Given the description of an element on the screen output the (x, y) to click on. 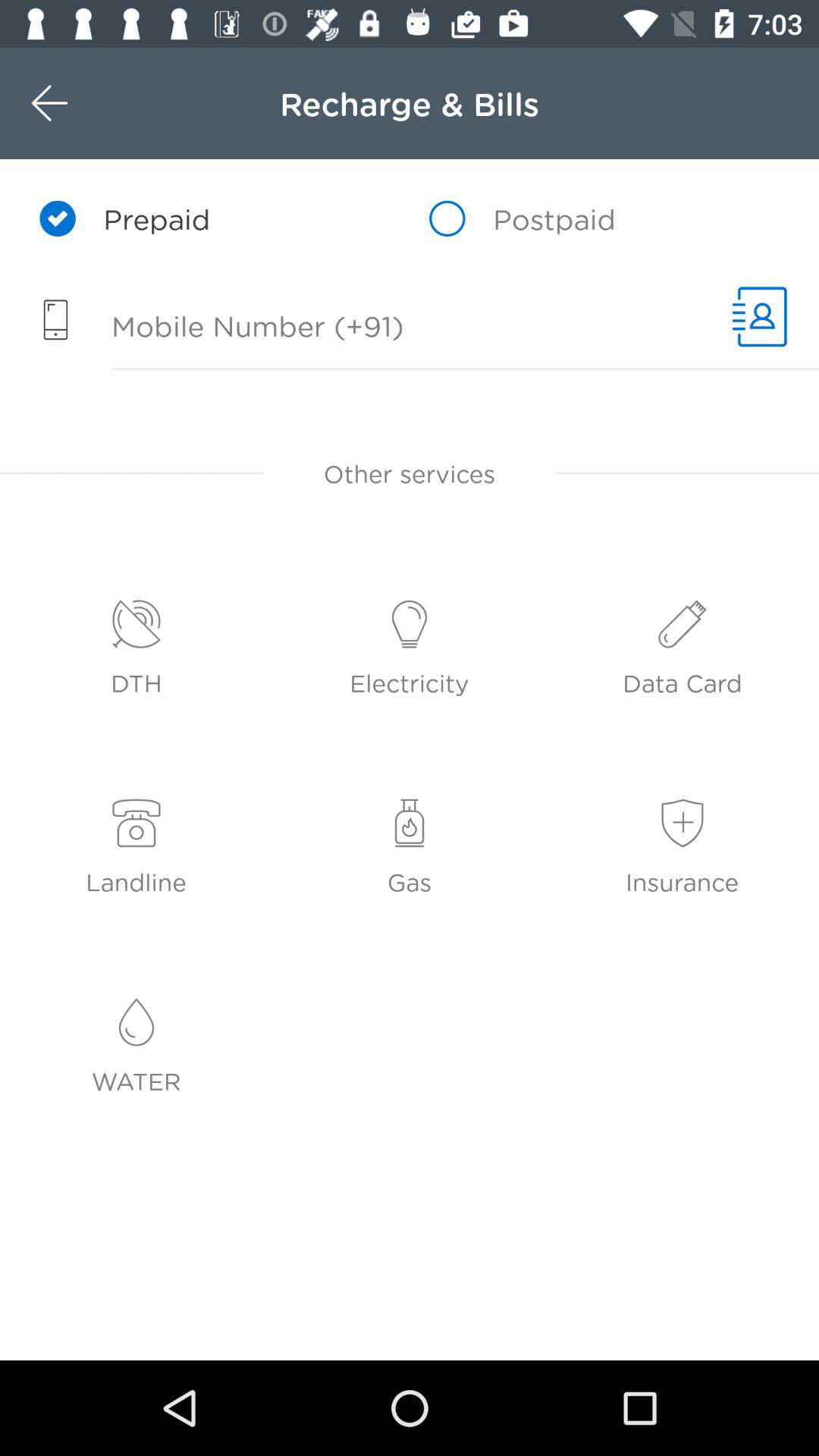
enter the mobile number (358, 328)
